Given the description of an element on the screen output the (x, y) to click on. 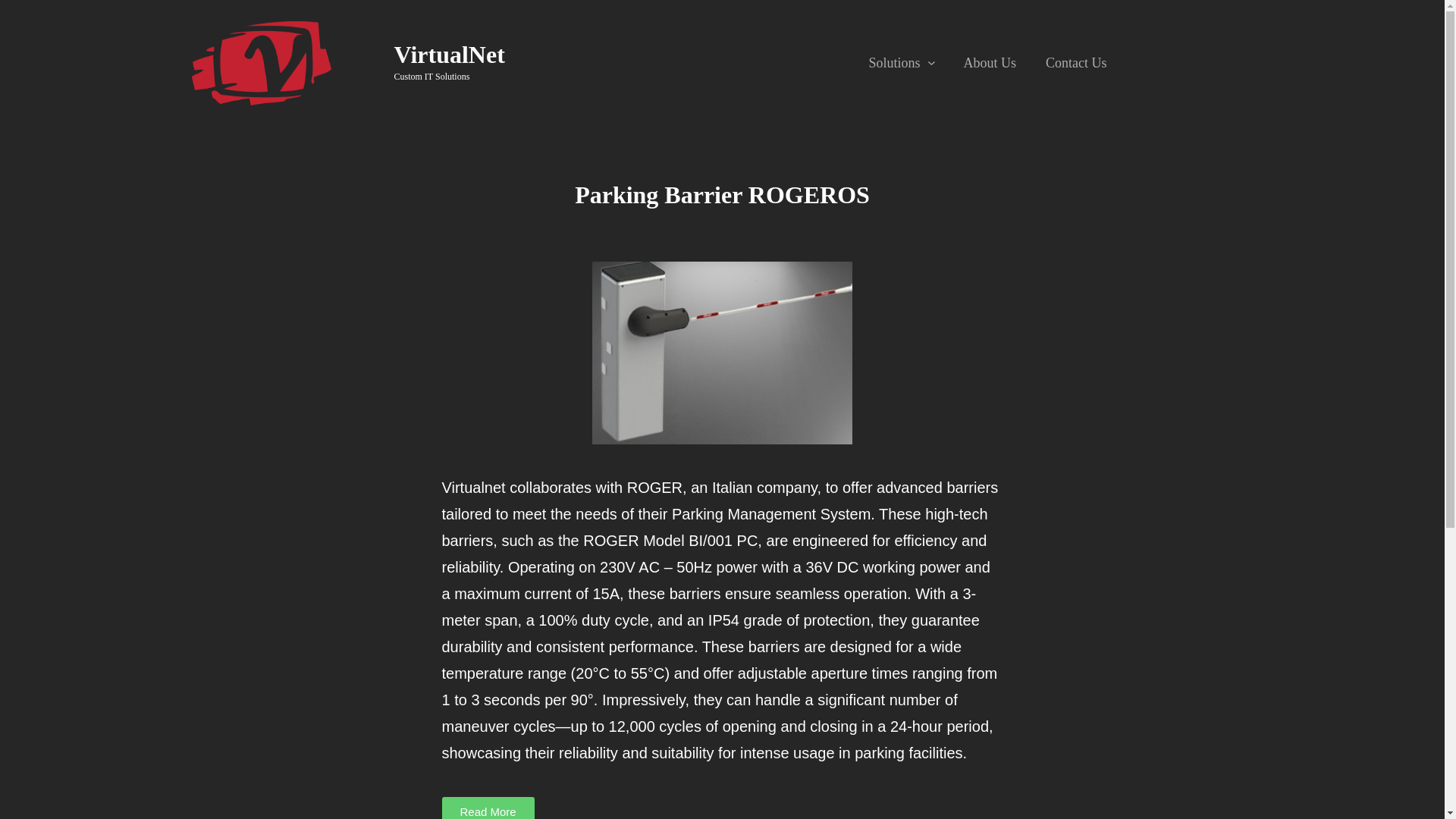
Read More (487, 807)
VirtualNet (449, 53)
Solutions (894, 62)
Contact Us (1075, 62)
About Us (988, 62)
